Given the description of an element on the screen output the (x, y) to click on. 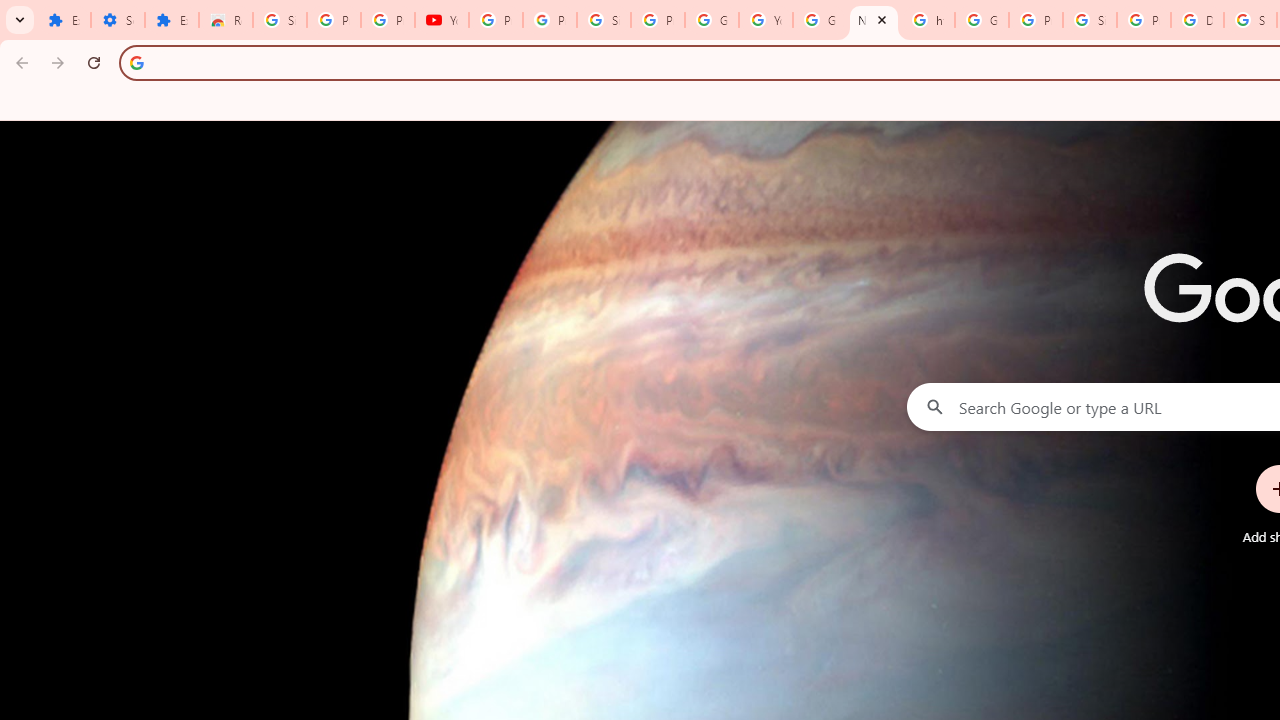
Settings (117, 20)
Sign in - Google Accounts (604, 20)
Extensions (171, 20)
Extensions (63, 20)
YouTube (765, 20)
Reviews: Helix Fruit Jump Arcade Game (225, 20)
Sign in - Google Accounts (1089, 20)
Google Account (711, 20)
